Given the description of an element on the screen output the (x, y) to click on. 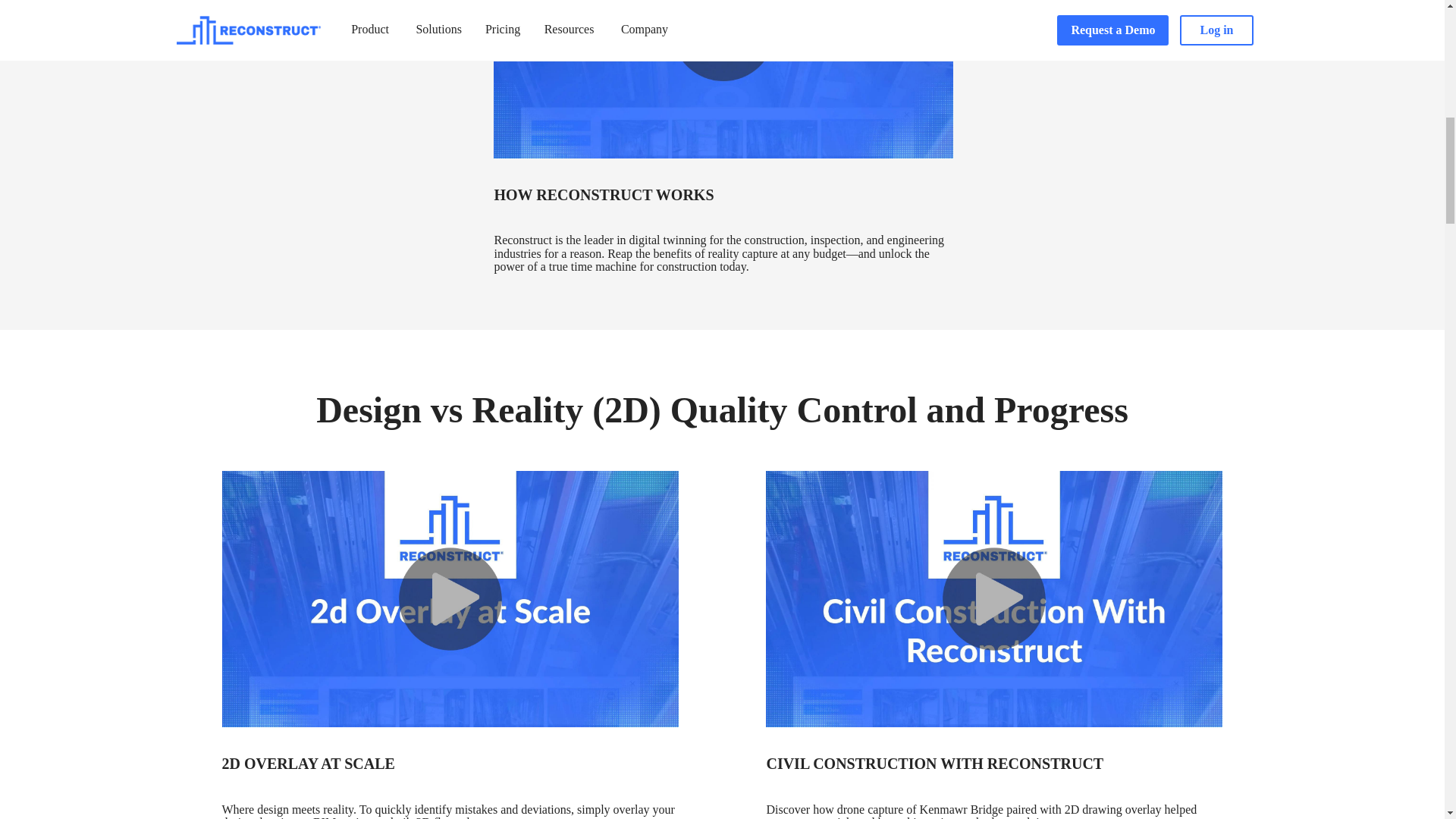
RI-2d-Overlay-at-Scale-Video-Thumbnail-Playbutton (449, 599)
